Given the description of an element on the screen output the (x, y) to click on. 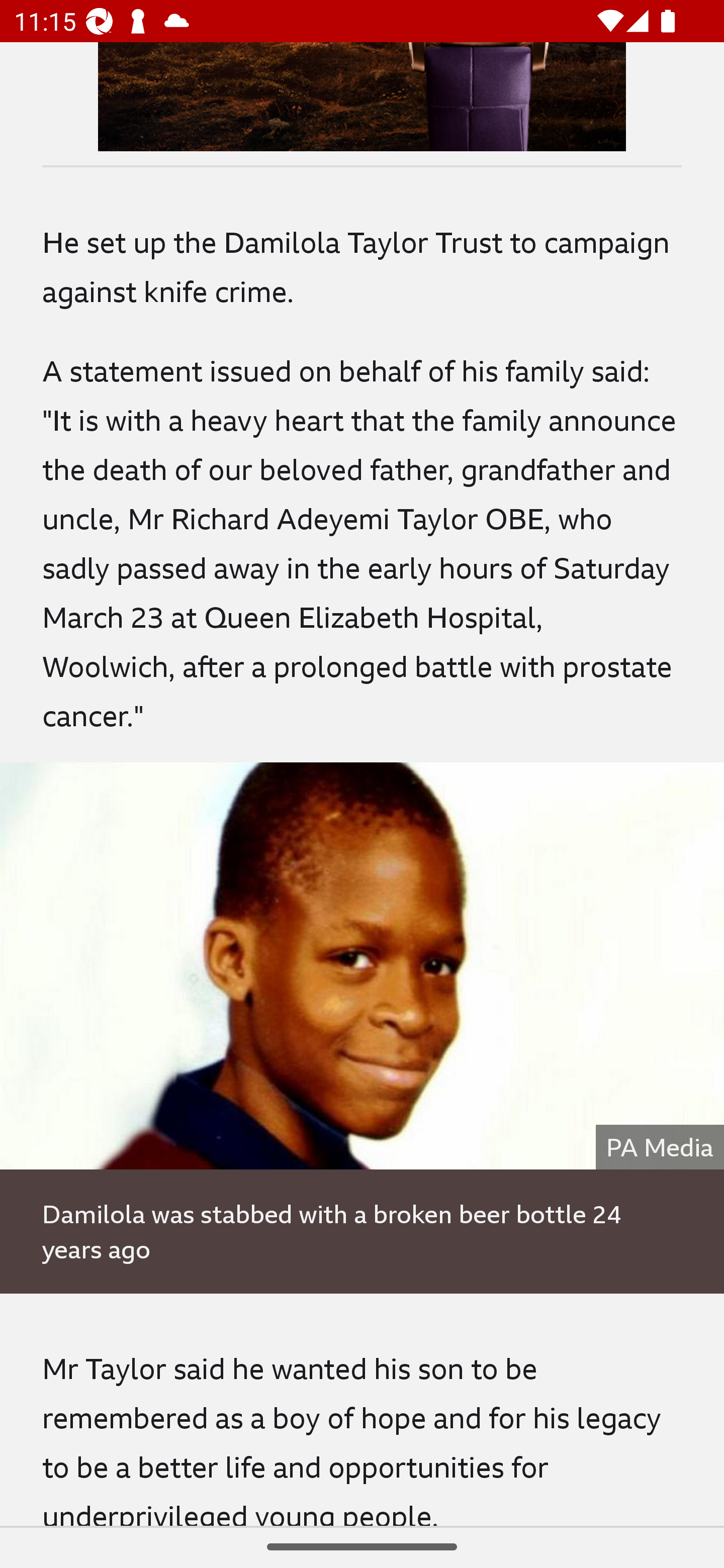
Damilola Taylor (362, 965)
